Given the description of an element on the screen output the (x, y) to click on. 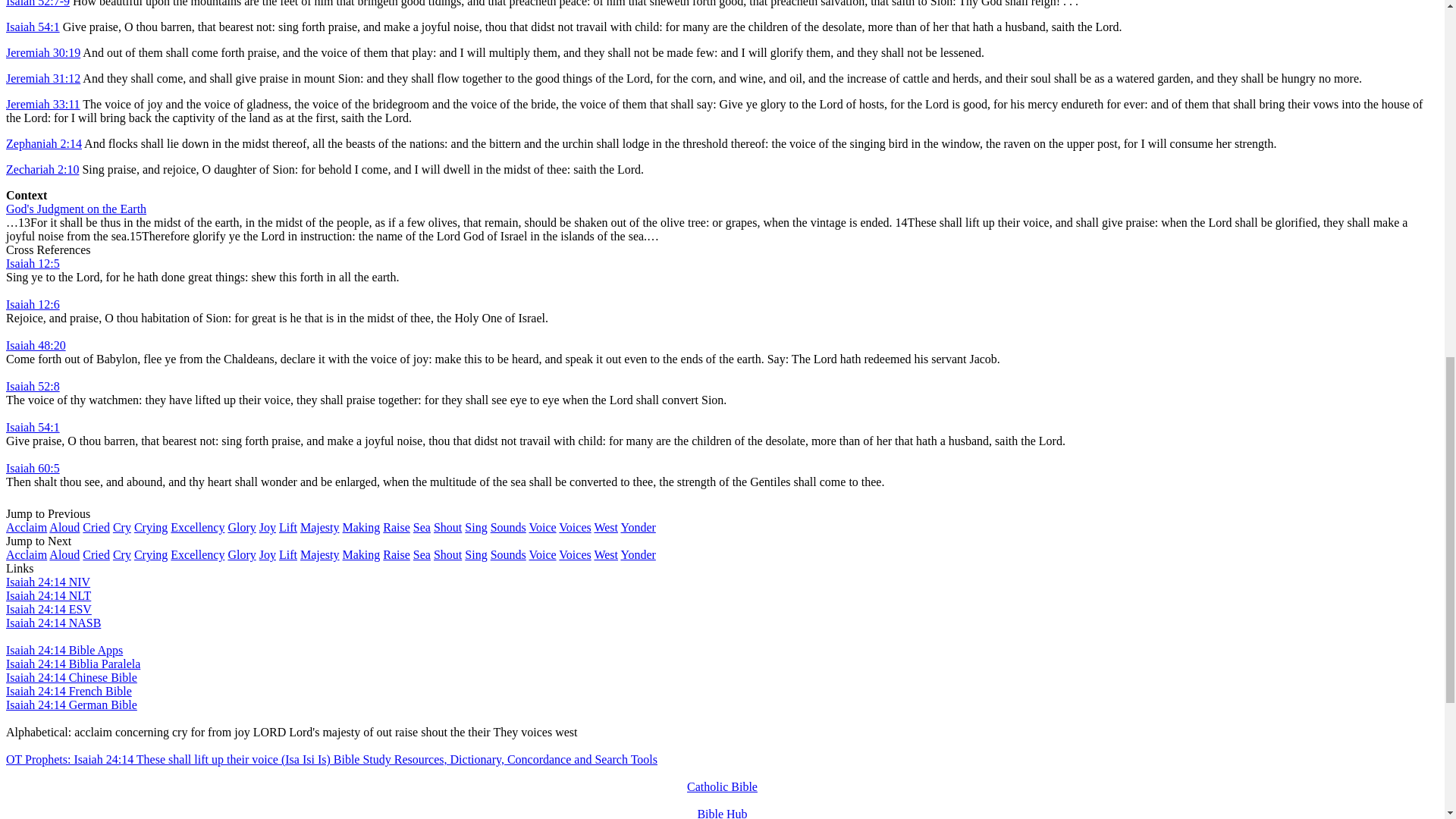
Isaiah 54:1 (32, 26)
Jeremiah 33:11 (42, 103)
Isaiah 52:8 (32, 386)
Cried (96, 526)
Crying (150, 526)
Isaiah 48:20 (35, 345)
Aloud (64, 526)
Acclaim (25, 526)
Jeremiah 31:12 (42, 78)
Zephaniah 2:14 (43, 143)
Isaiah 12:5 (32, 263)
Isaiah 60:5 (32, 468)
God's Judgment on the Earth (76, 208)
Isaiah 52:7-9 (37, 3)
Excellency (197, 526)
